Given the description of an element on the screen output the (x, y) to click on. 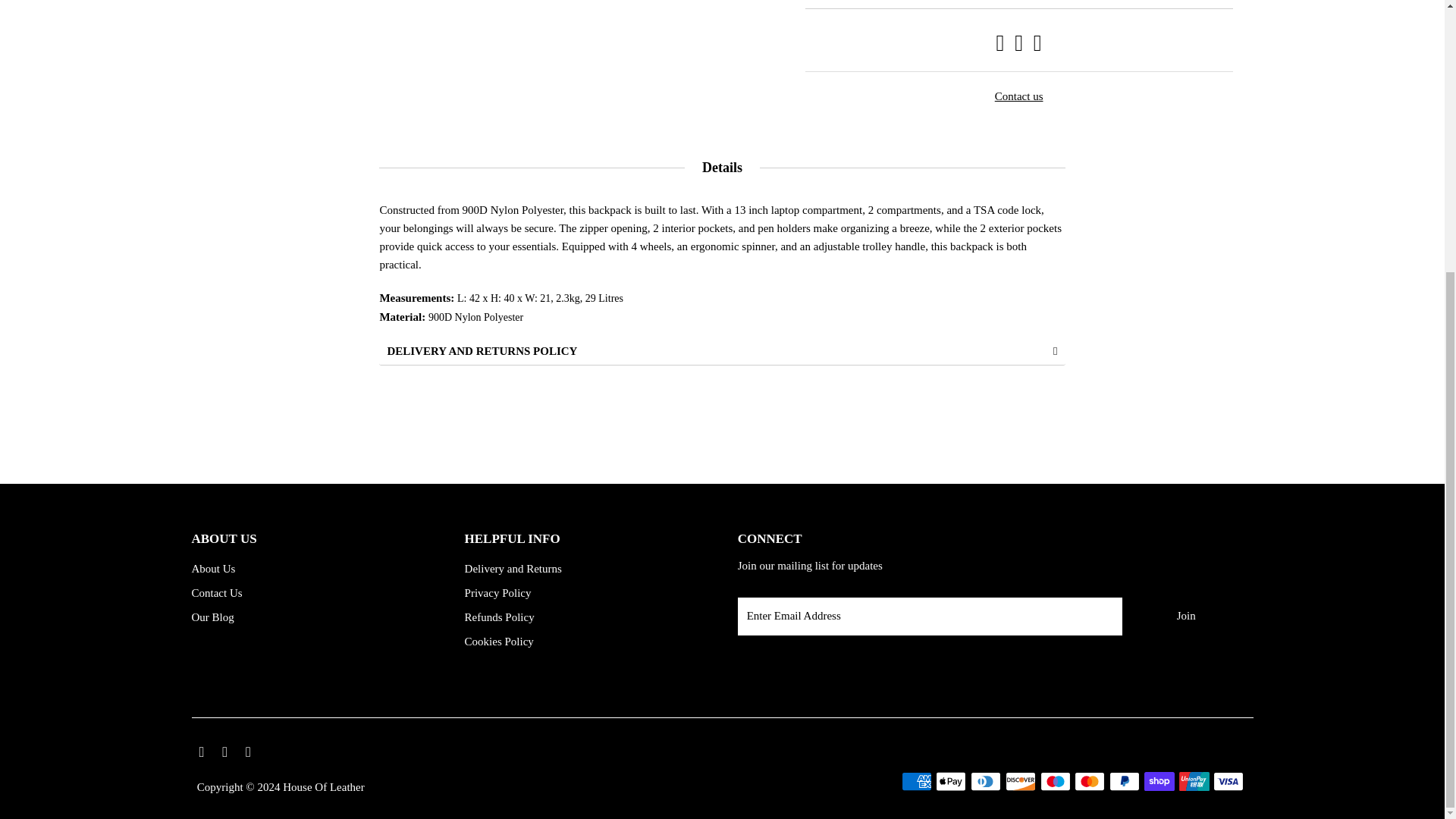
Discover (1020, 781)
Join (1186, 616)
Apple Pay (951, 781)
American Express (916, 781)
Shop Pay (1159, 781)
Visa (1227, 781)
Mastercard (1089, 781)
Diners Club (986, 781)
Maestro (1055, 781)
PayPal (1124, 781)
